Given the description of an element on the screen output the (x, y) to click on. 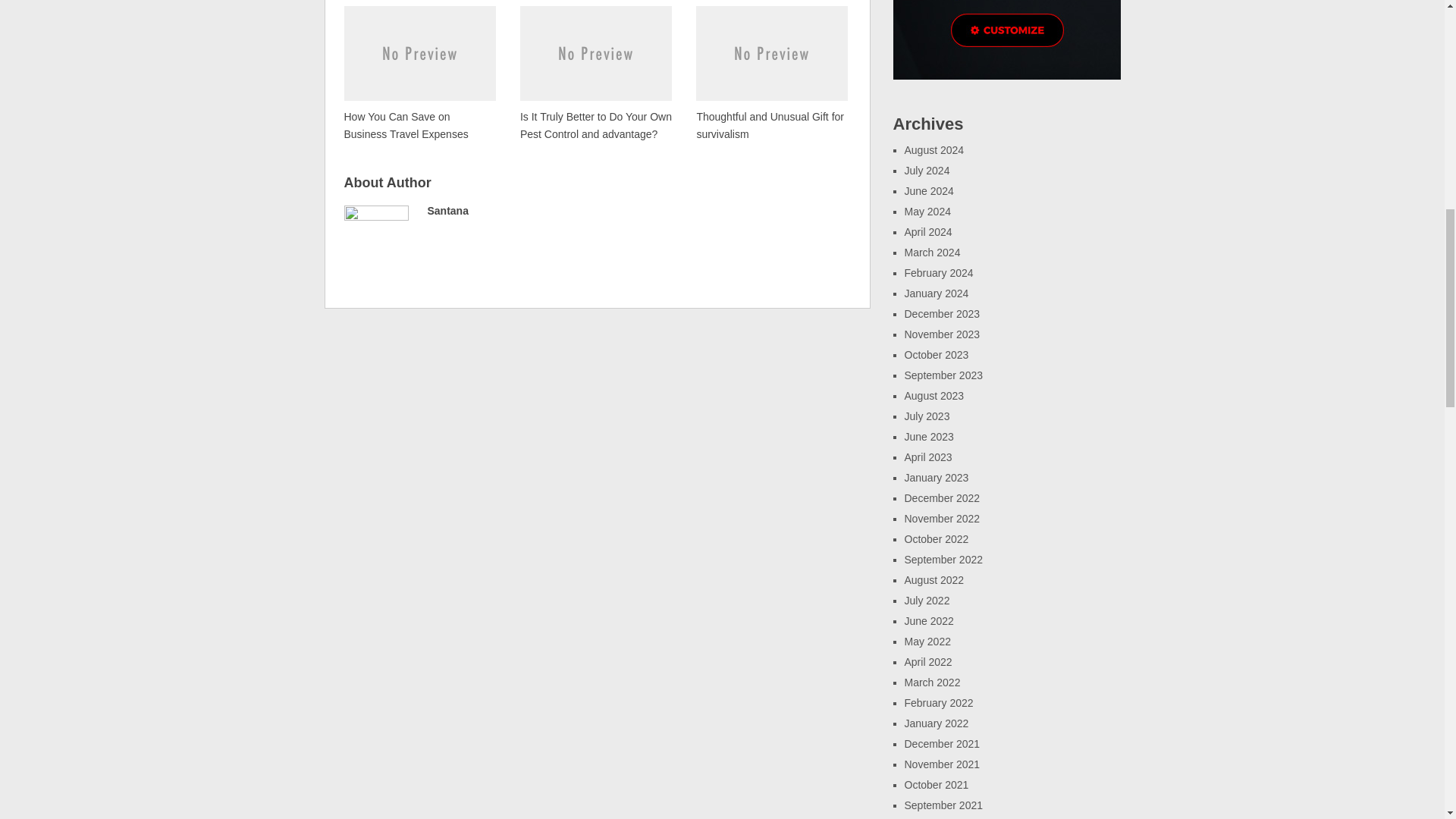
July 2024 (926, 170)
December 2022 (941, 498)
October 2023 (936, 354)
April 2023 (928, 457)
February 2024 (938, 272)
August 2023 (933, 395)
August 2024 (933, 150)
March 2024 (931, 252)
December 2023 (941, 313)
How You Can Save on Business Travel Expenses (419, 72)
